Given the description of an element on the screen output the (x, y) to click on. 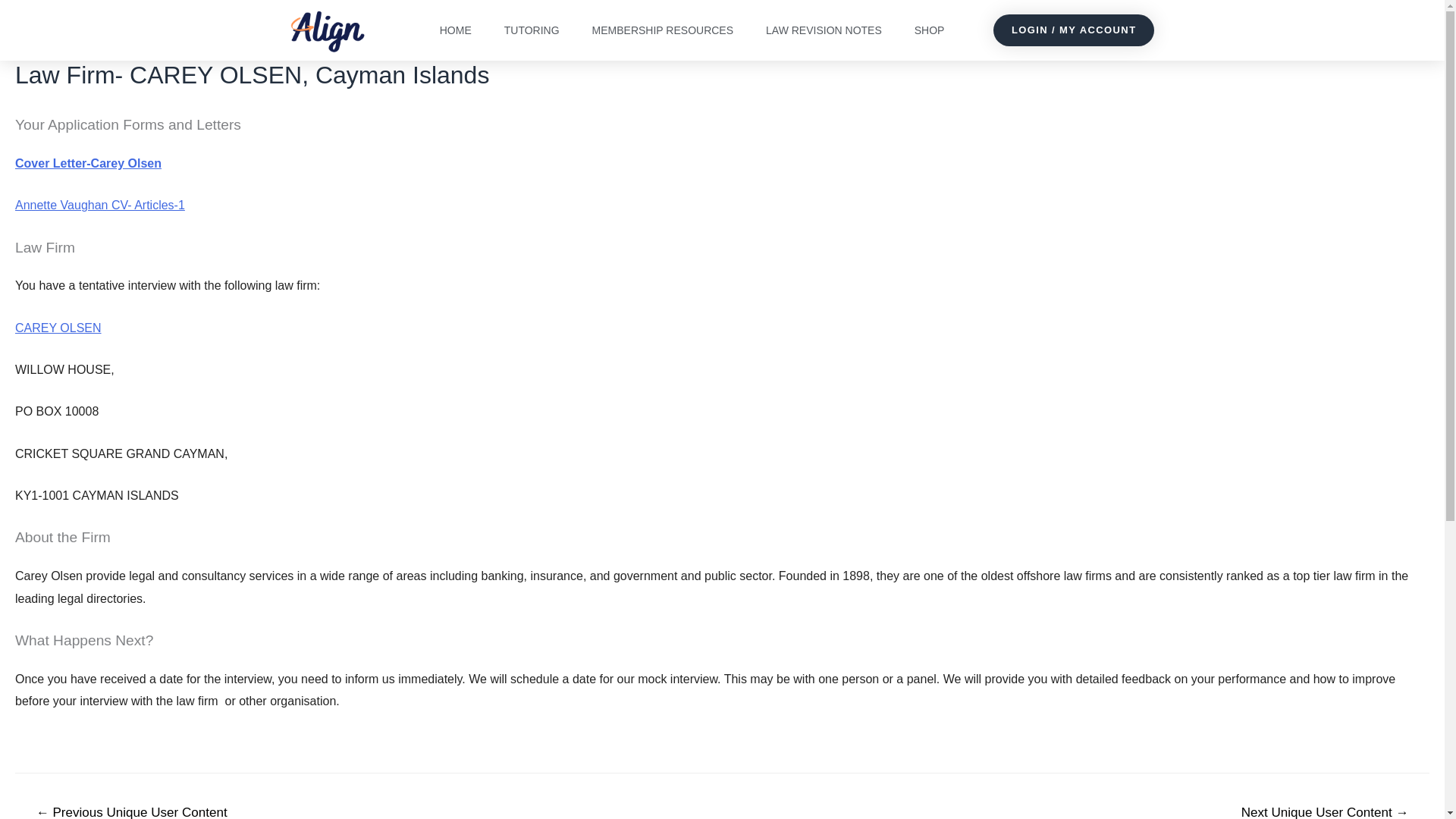
SHOP (929, 30)
CAREY OLSEN (57, 327)
LAW REVISION NOTES (823, 30)
Cover Letter-Carey Olsen (87, 163)
Annette Vaughan CV- Articles-1 (99, 205)
TUTORING (532, 30)
MEMBERSHIP RESOURCES (662, 30)
HOME (455, 30)
